Given the description of an element on the screen output the (x, y) to click on. 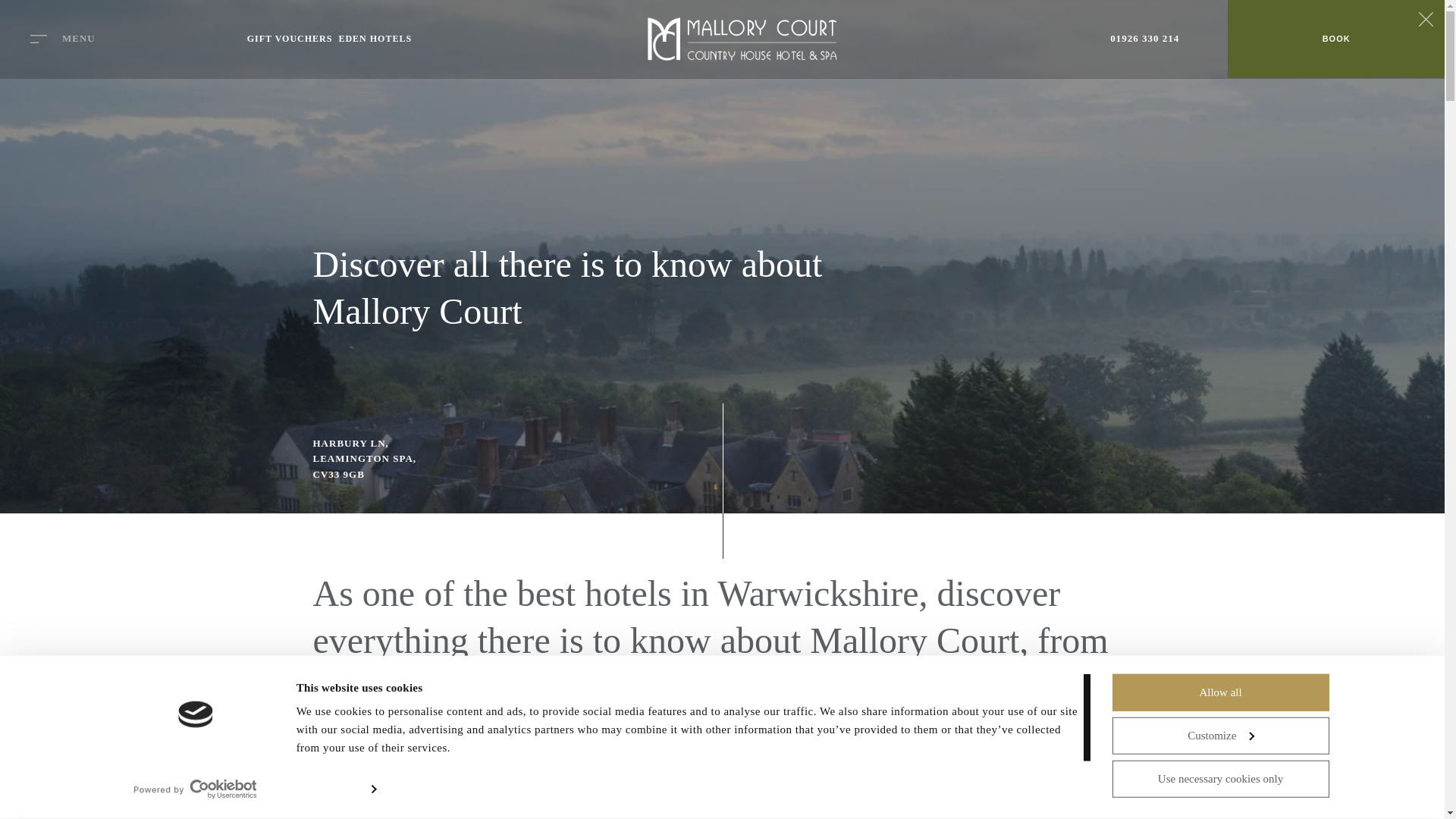
Show details (336, 789)
Use necessary cookies only (1219, 778)
